Given the description of an element on the screen output the (x, y) to click on. 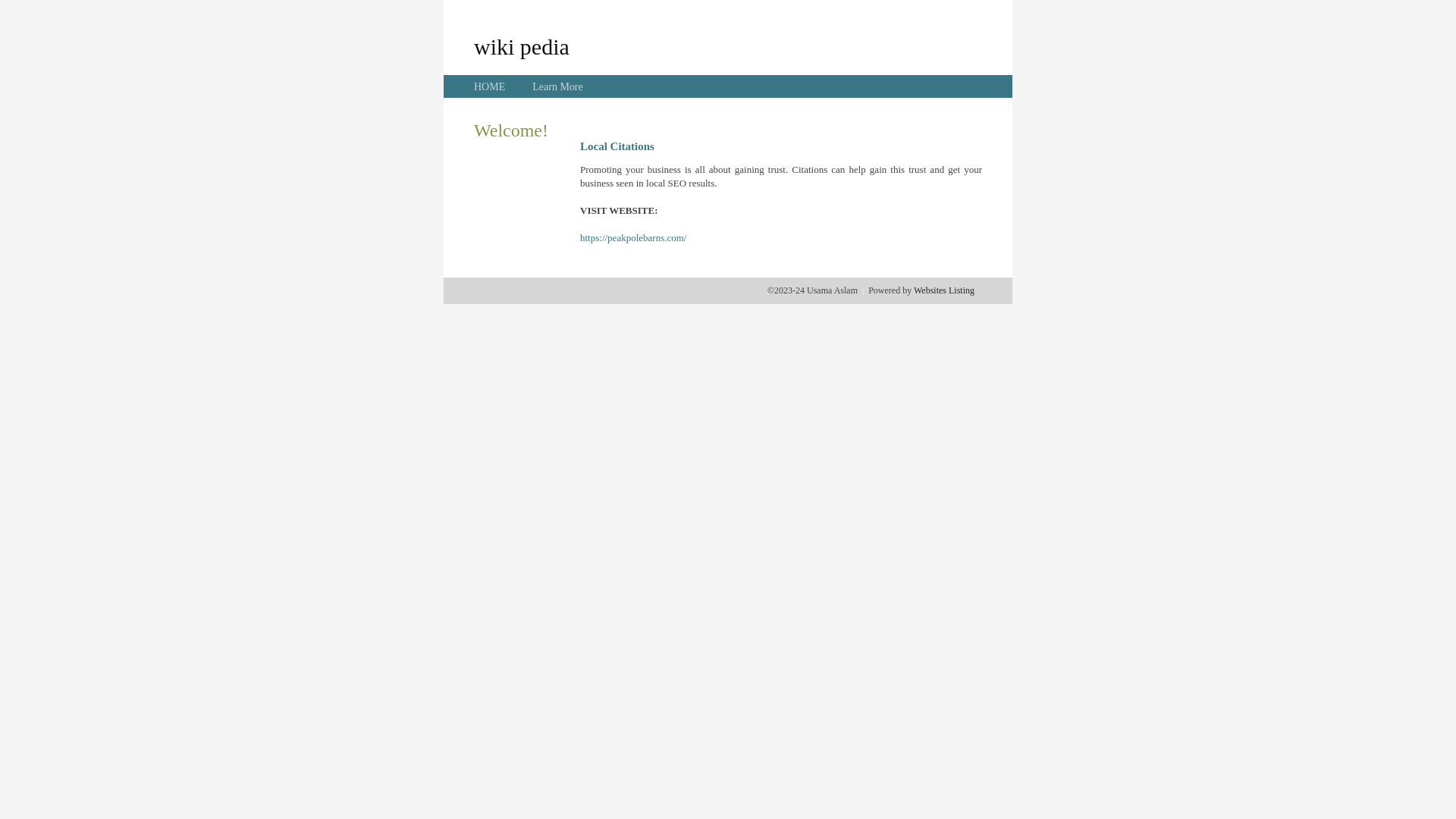
Learn More Element type: text (557, 86)
Websites Listing Element type: text (943, 290)
wiki pedia Element type: text (521, 46)
HOME Element type: text (489, 86)
https://peakpolebarns.com/ Element type: text (633, 237)
